Given the description of an element on the screen output the (x, y) to click on. 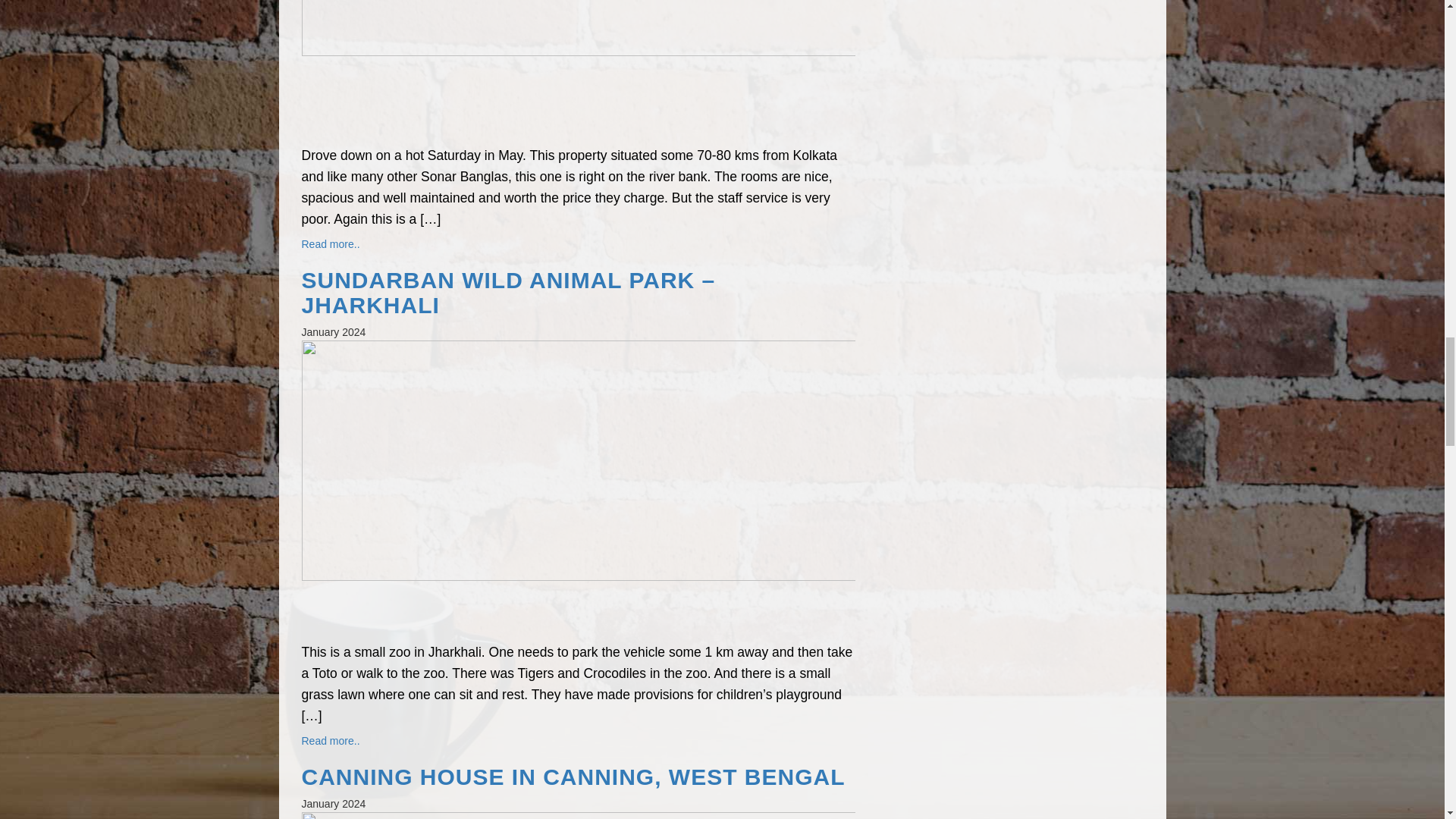
Read more.. (330, 244)
Read more.. (330, 740)
CANNING HOUSE IN CANNING, WEST BENGAL (578, 776)
